Given the description of an element on the screen output the (x, y) to click on. 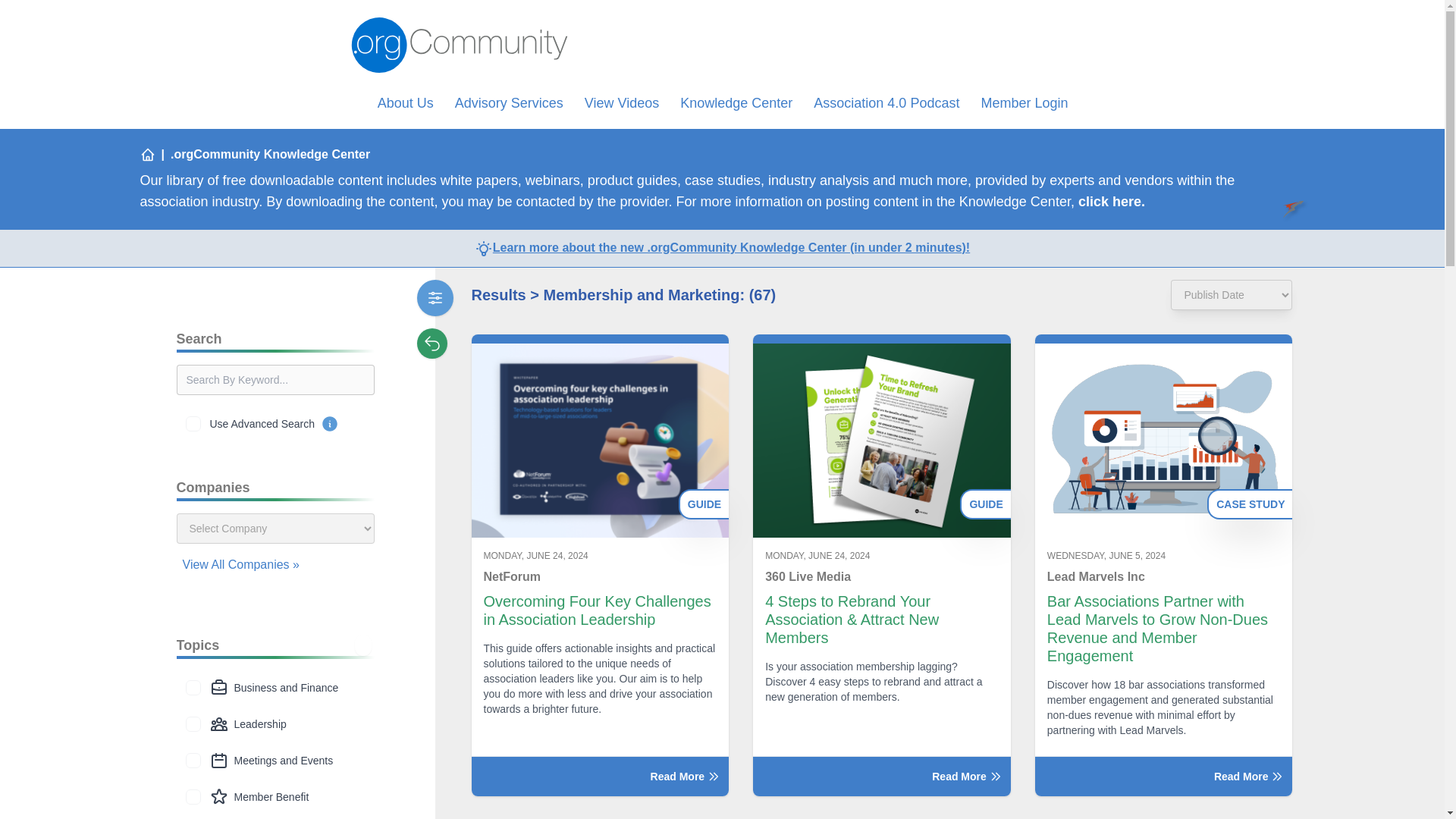
Lead Marvels Inc (1163, 577)
Advisory Services (508, 102)
Read More (600, 776)
NetForum (600, 577)
Leadership (192, 724)
Meetings and Events (192, 760)
360 Live Media (881, 577)
Member Login (1023, 102)
Lead Marvels Inc (1163, 577)
Read More (881, 776)
Business and Finance (192, 687)
NetForum (600, 577)
Read More (1163, 776)
click here. (1111, 201)
